Given the description of an element on the screen output the (x, y) to click on. 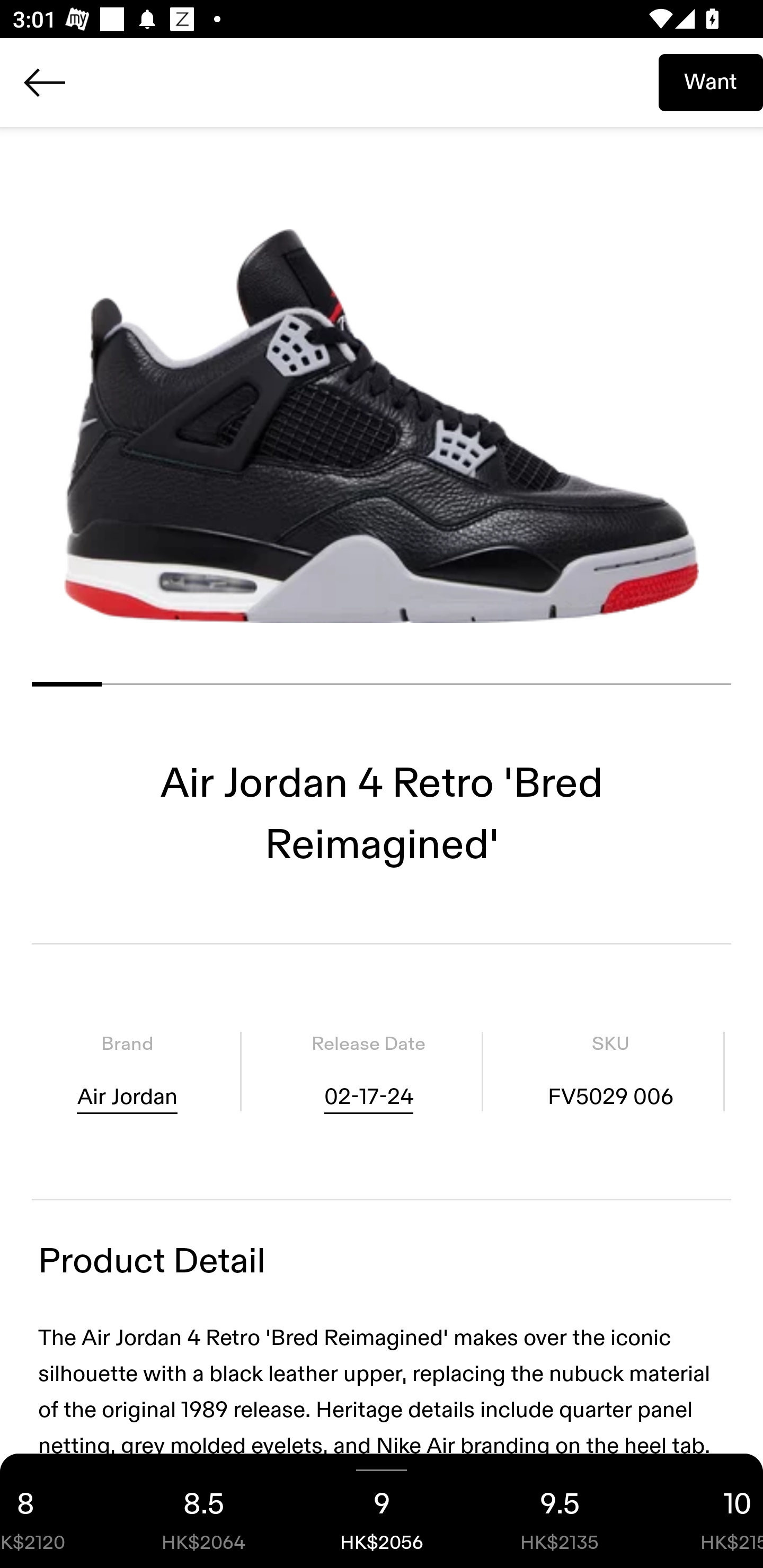
Want (710, 82)
Brand Air Jordan (126, 1070)
Release Date 02-17-24 (368, 1070)
SKU FV5029 006 (609, 1070)
8 HK$2120 (57, 1510)
8.5 HK$2064 (203, 1510)
9 HK$2056 (381, 1510)
9.5 HK$2135 (559, 1510)
10 HK$2151 (705, 1510)
